Given the description of an element on the screen output the (x, y) to click on. 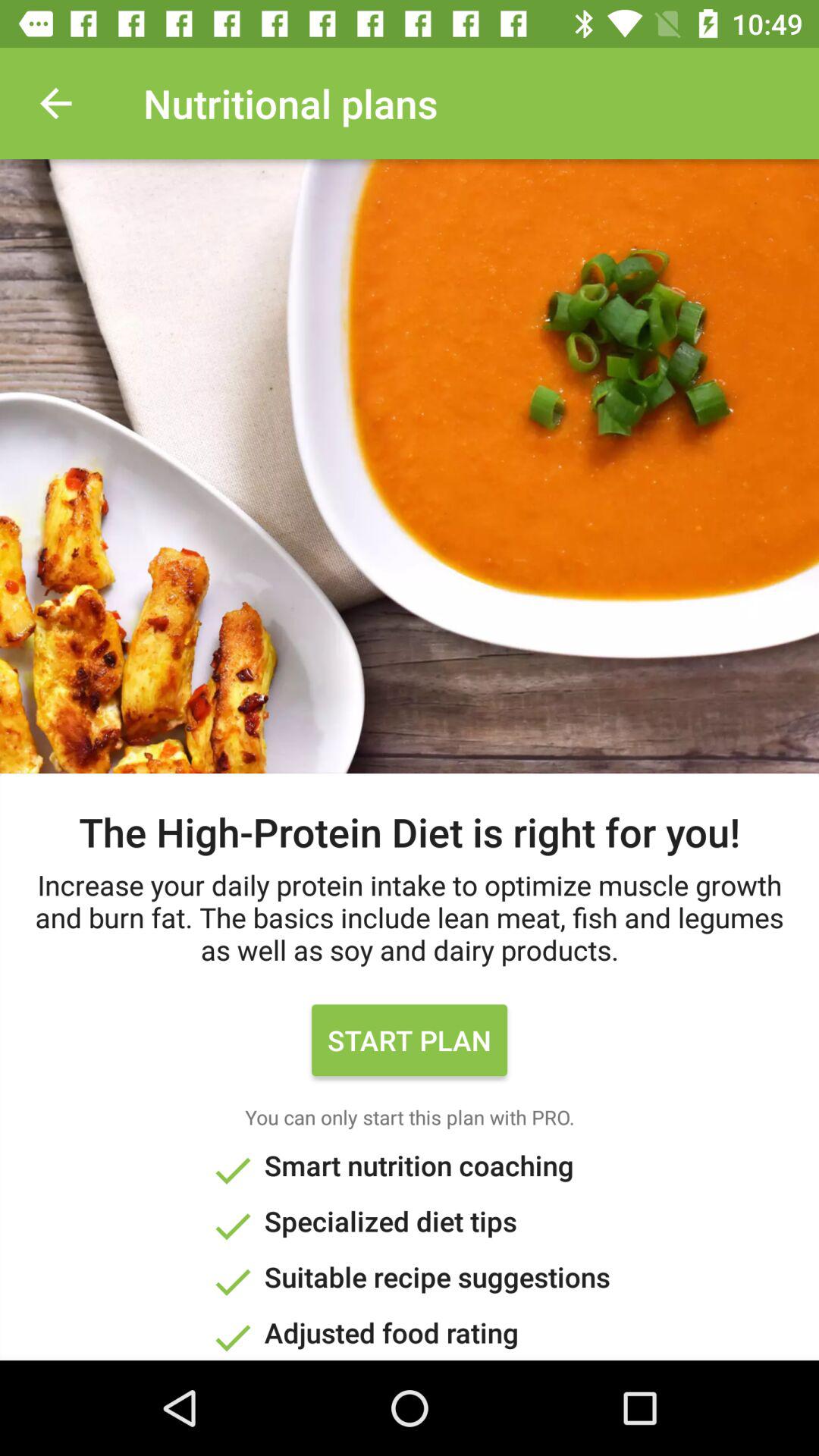
launch the item next to nutritional plans item (55, 103)
